Given the description of an element on the screen output the (x, y) to click on. 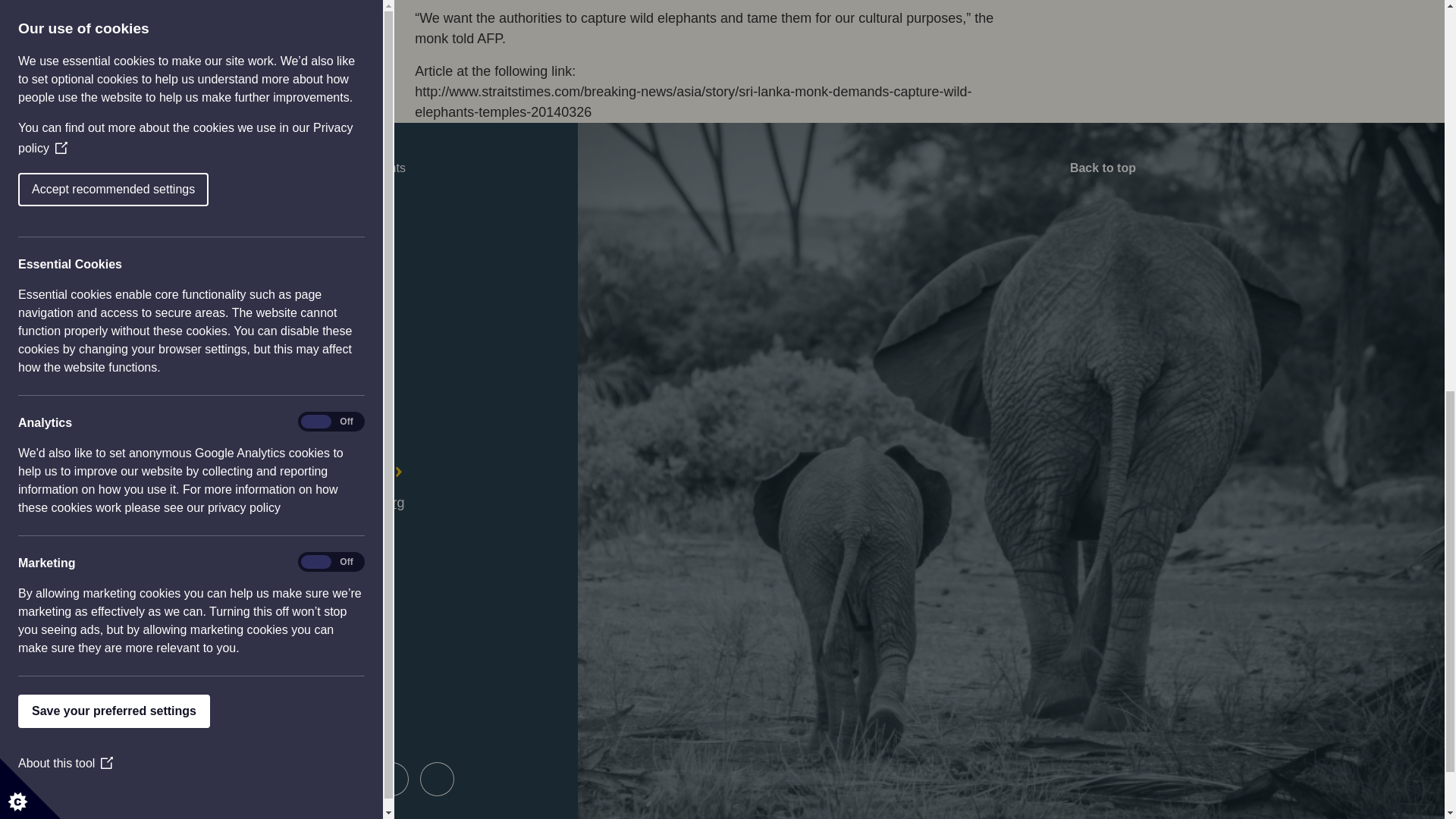
Instagram (346, 779)
Twitter (301, 779)
Youtube (391, 779)
Facebook (254, 779)
Linkedin (437, 779)
